Given the description of an element on the screen output the (x, y) to click on. 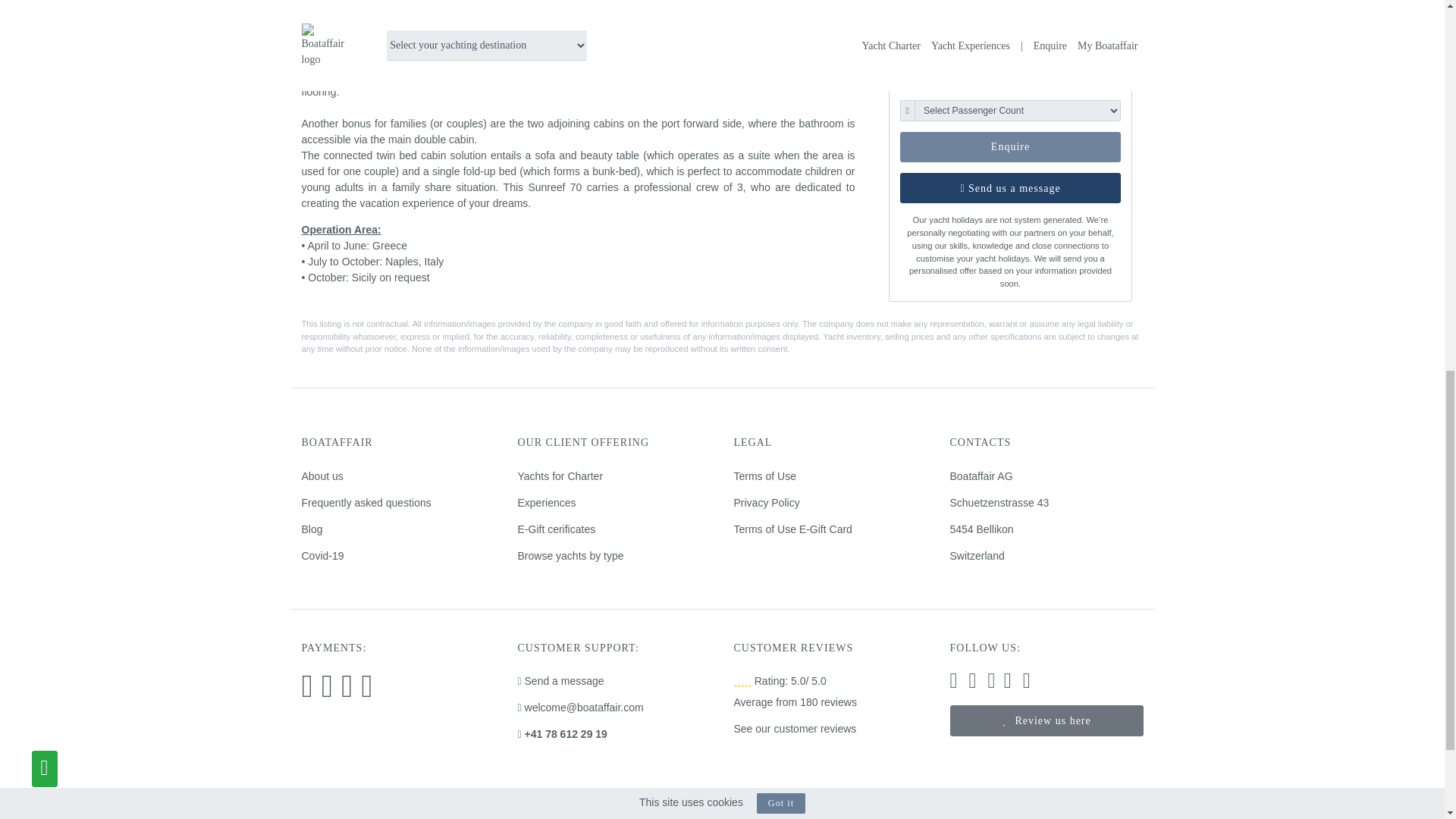
Blog (312, 529)
Frequently asked questions (365, 502)
Yachts for Charter (559, 476)
Covid-19 (322, 555)
Privacy Policy (766, 502)
Terms of Use (764, 476)
See our customer reviews (795, 728)
Terms of Use E-Gift Card (792, 529)
E-Gift cerificates (555, 529)
Send a message (560, 680)
